Given the description of an element on the screen output the (x, y) to click on. 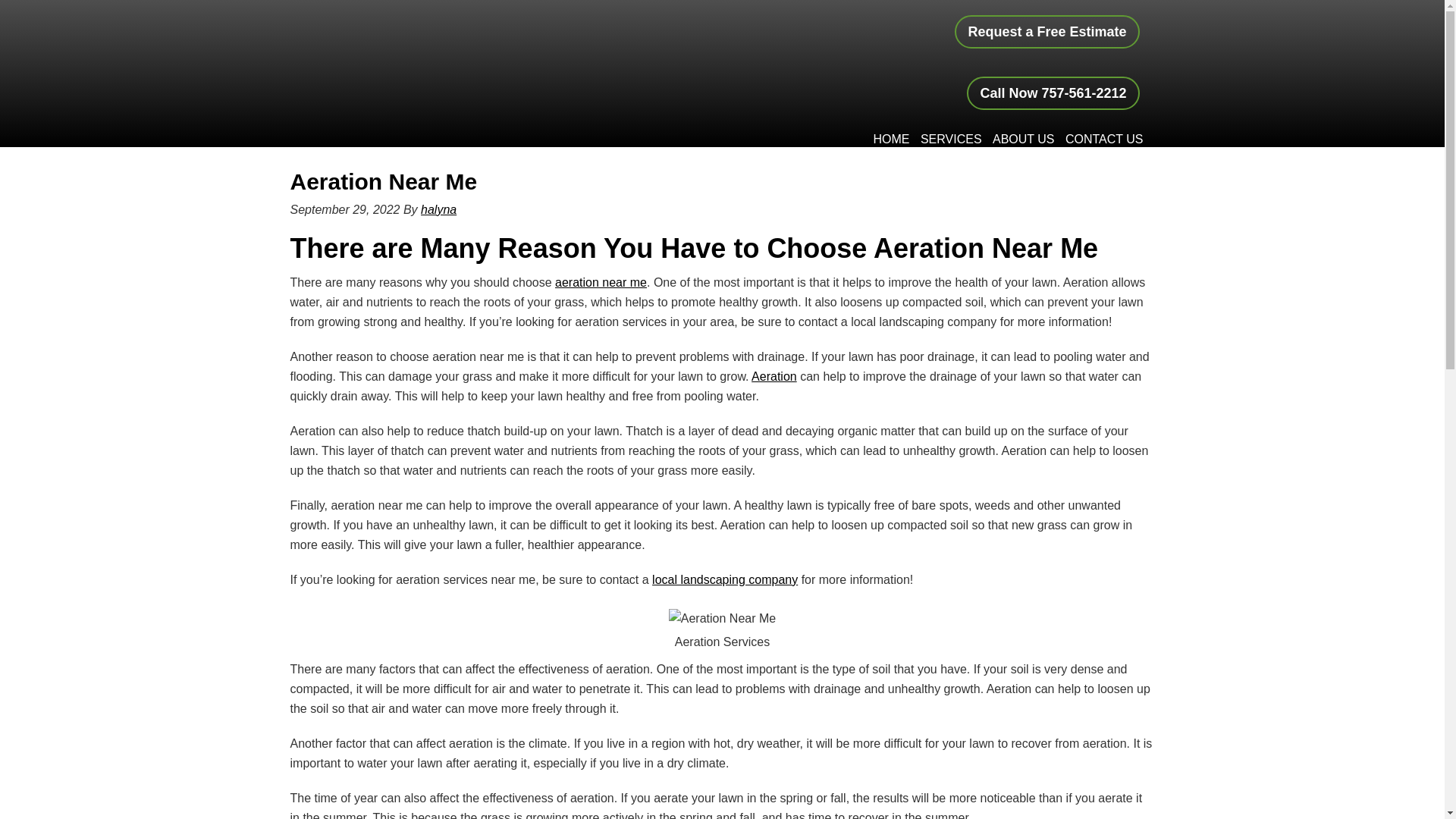
Call Now 757-561-2212 (1052, 92)
CONTACT US (1104, 139)
SERVICES (951, 139)
The Vine Landscaping (452, 55)
halyna (438, 209)
Aeration Near Me (383, 181)
Request a Free Estimate (1046, 31)
ABOUT US (1023, 139)
HOME (890, 139)
